Given the description of an element on the screen output the (x, y) to click on. 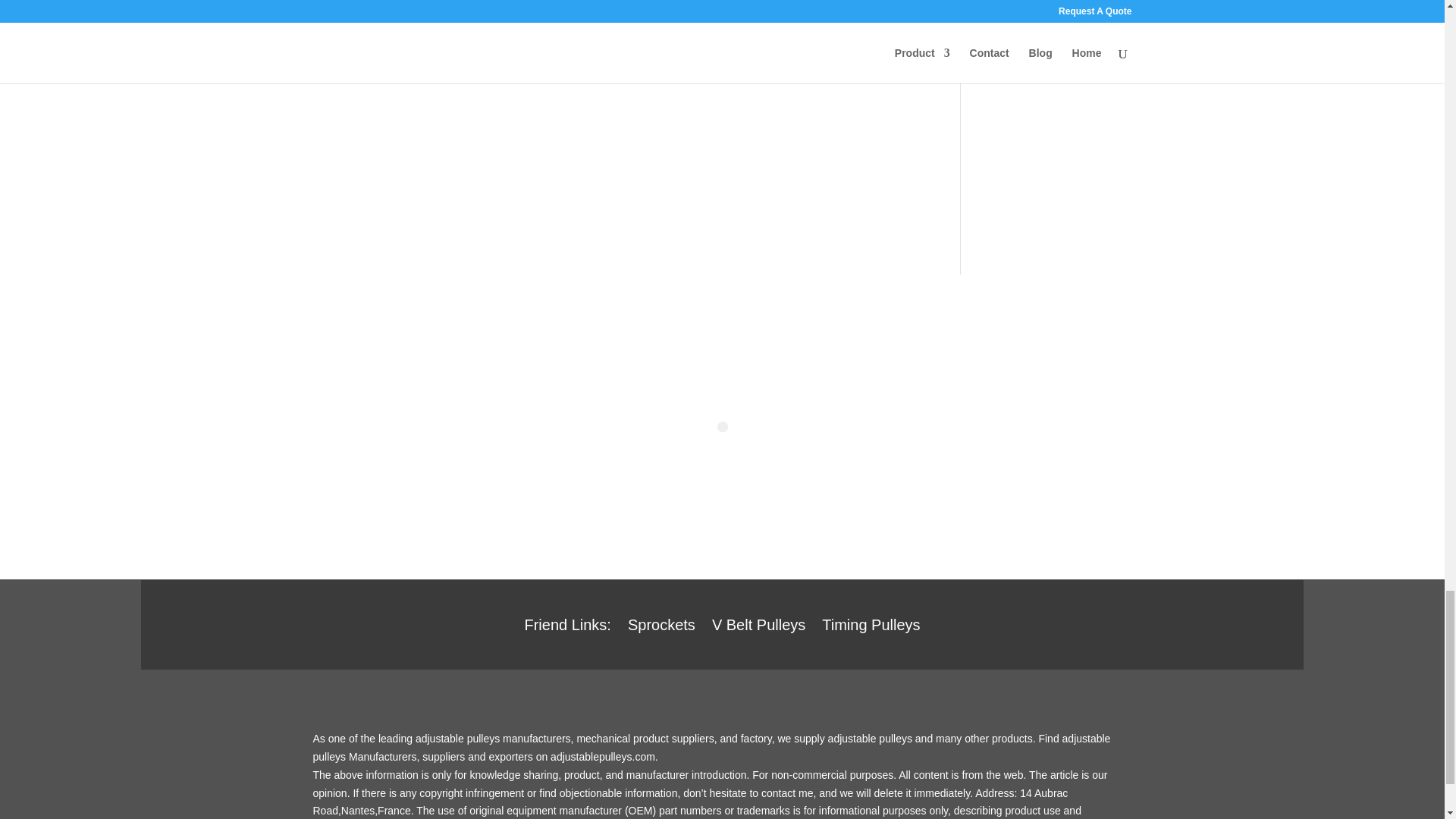
Timing Pulleys (871, 627)
V Belt Pulleys (758, 627)
Friend Links: (567, 627)
Sprockets (661, 627)
